Given the description of an element on the screen output the (x, y) to click on. 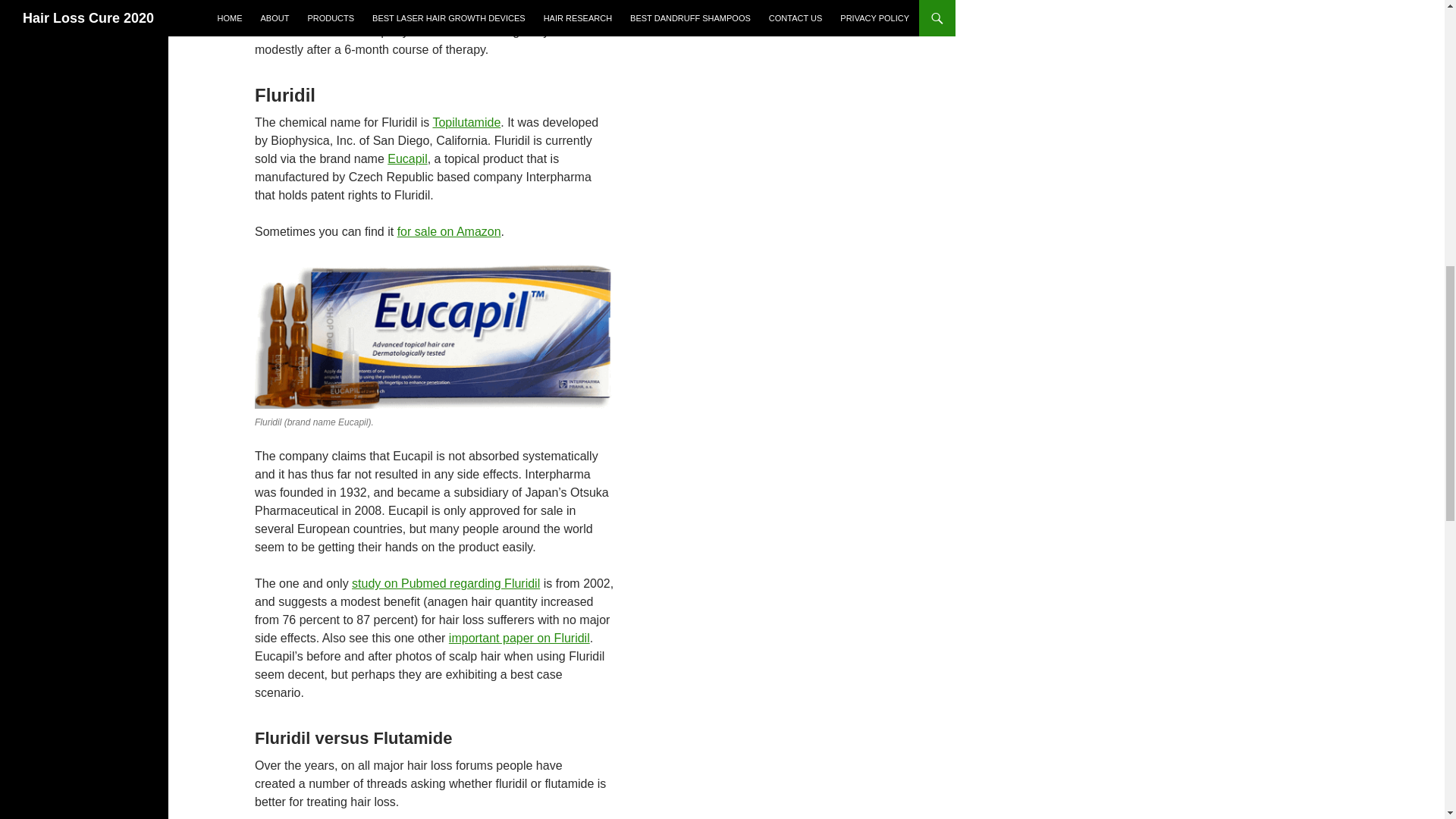
Topilutamide (466, 122)
Eucapil (406, 158)
important paper on Fluridil (518, 637)
study on Pubmed regarding Fluridil (446, 583)
for sale on Amazon (448, 231)
compared (475, 0)
